Given the description of an element on the screen output the (x, y) to click on. 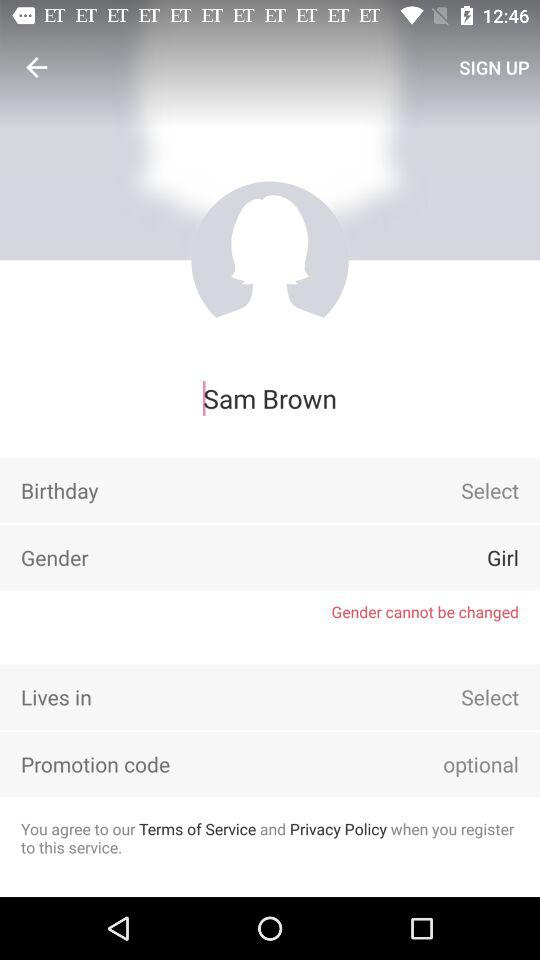
choose the icon above sam brown (494, 67)
